Given the description of an element on the screen output the (x, y) to click on. 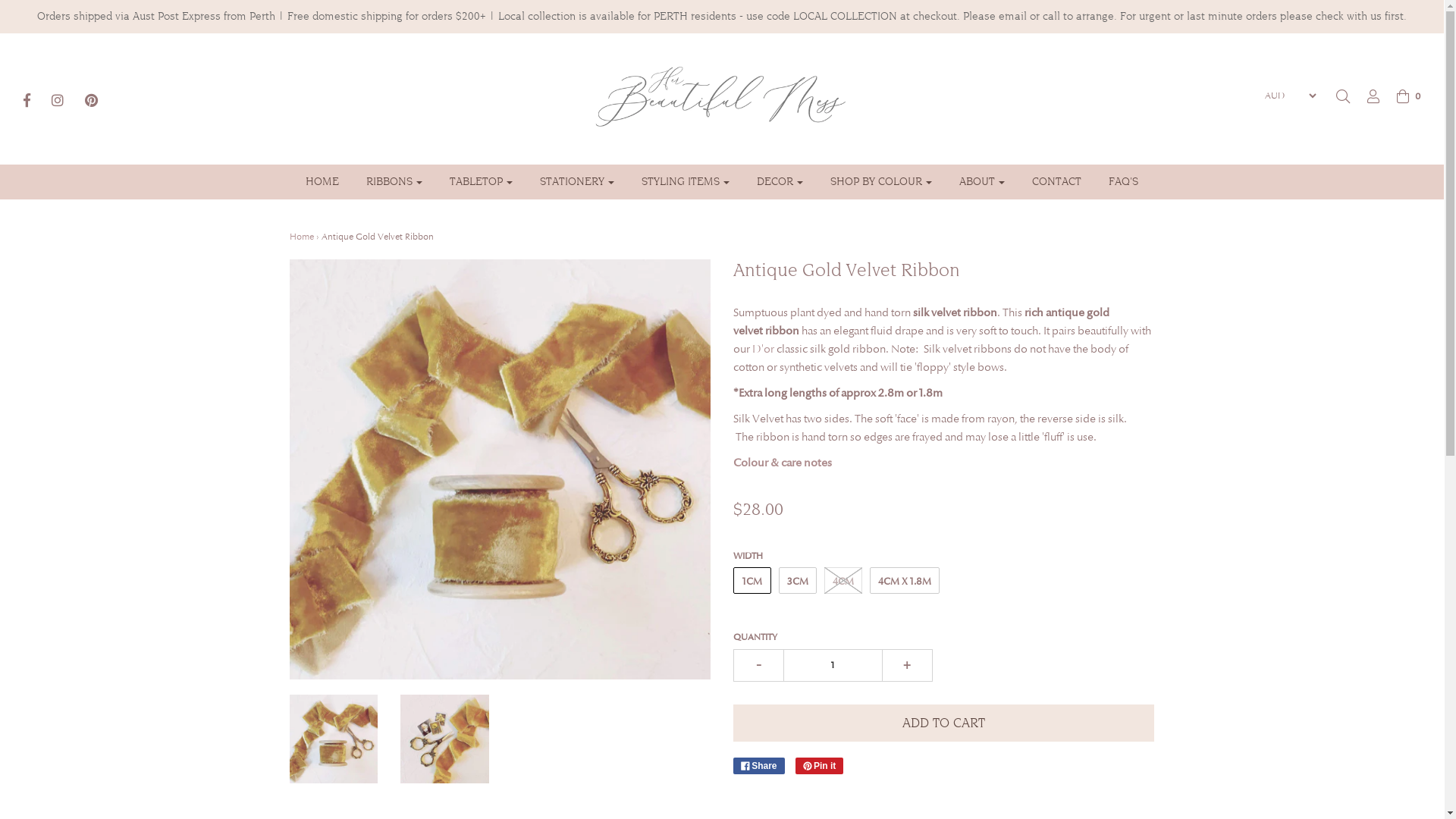
HOME Element type: text (322, 181)
STYLING ITEMS Element type: text (685, 181)
ADD TO CART Element type: text (943, 723)
Share Element type: text (758, 765)
Log in Element type: hover (1365, 96)
Search Element type: hover (1342, 96)
Colour & care notes Element type: text (782, 462)
D'or Element type: text (763, 348)
FAQ'S Element type: text (1123, 181)
ABOUT Element type: text (981, 181)
SHOP BY COLOUR Element type: text (881, 181)
Antique Gold Velvet Ribbon Element type: hover (333, 738)
- Element type: text (758, 665)
CONTACT Element type: text (1056, 181)
0 Element type: text (1401, 96)
Antique Gold Velvet Ribbon Element type: hover (444, 738)
Home Element type: text (301, 236)
DECOR Element type: text (779, 181)
+ Element type: text (907, 665)
TABLETOP Element type: text (481, 181)
Pin it Element type: text (819, 765)
RIBBONS Element type: text (393, 181)
STATIONERY Element type: text (576, 181)
